Given the description of an element on the screen output the (x, y) to click on. 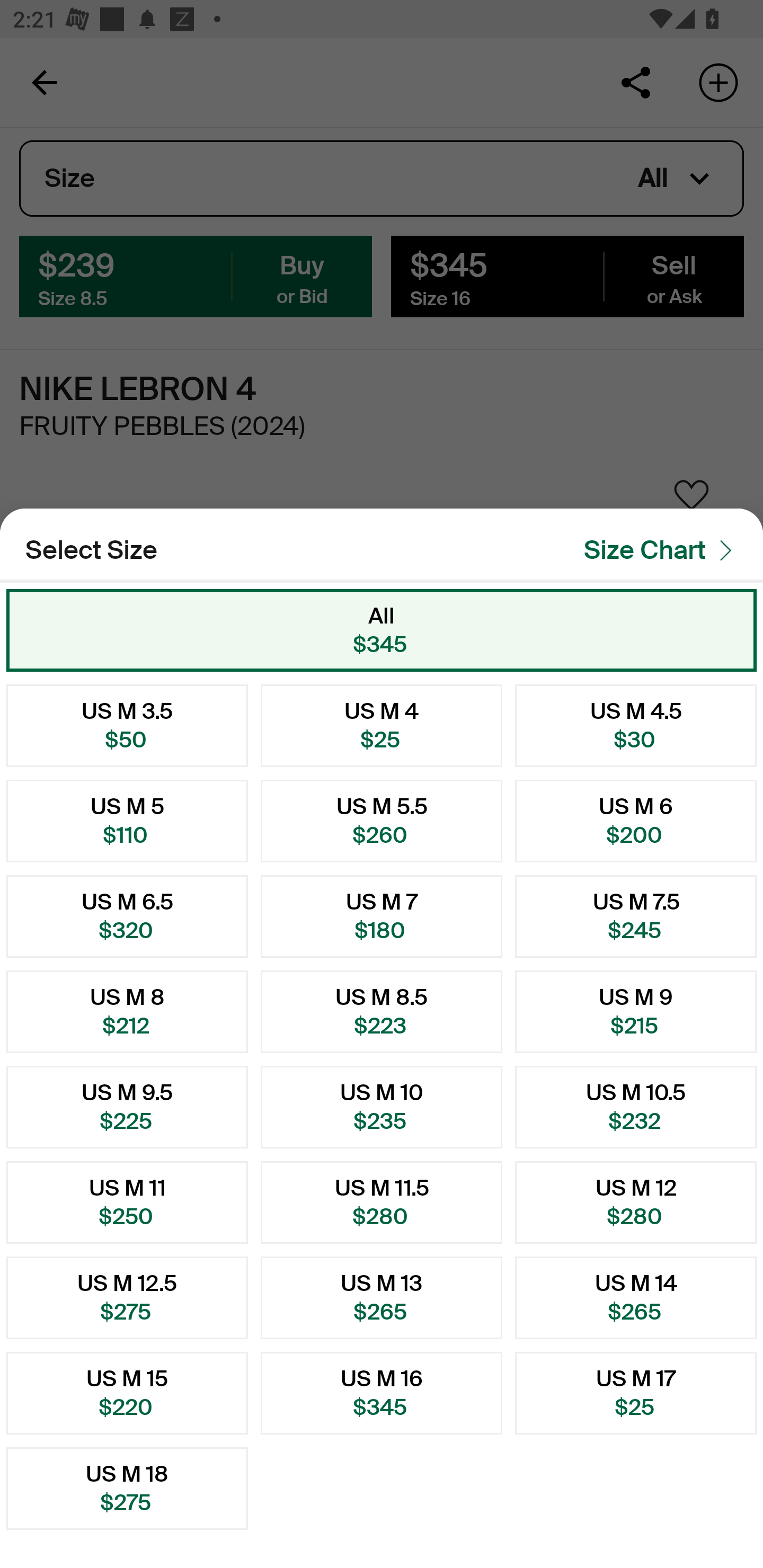
Size Chart (663, 550)
All $345 (381, 630)
US M 3.5 $50 (126, 724)
US M 4 $25 (381, 724)
US M 4.5 $30 (635, 724)
US M 5 $110 (126, 820)
US M 5.5 $260 (381, 820)
US M 6 $200 (635, 820)
US M 6.5 $320 (126, 916)
US M 7 $180 (381, 916)
US M 7.5 $245 (635, 916)
US M 8 $212 (126, 1011)
US M 8.5 $223 (381, 1011)
US M 9 $215 (635, 1011)
US M 9.5 $225 (126, 1106)
US M 10 $235 (381, 1106)
US M 10.5 $232 (635, 1106)
US M 11 $250 (126, 1202)
US M 11.5 $280 (381, 1202)
US M 12 $280 (635, 1202)
US M 12.5 $275 (126, 1297)
US M 13 $265 (381, 1297)
US M 14 $265 (635, 1297)
US M 15 $220 (126, 1392)
US M 16 $345 (381, 1392)
US M 17 $25 (635, 1392)
US M 18 $275 (126, 1488)
